Given the description of an element on the screen output the (x, y) to click on. 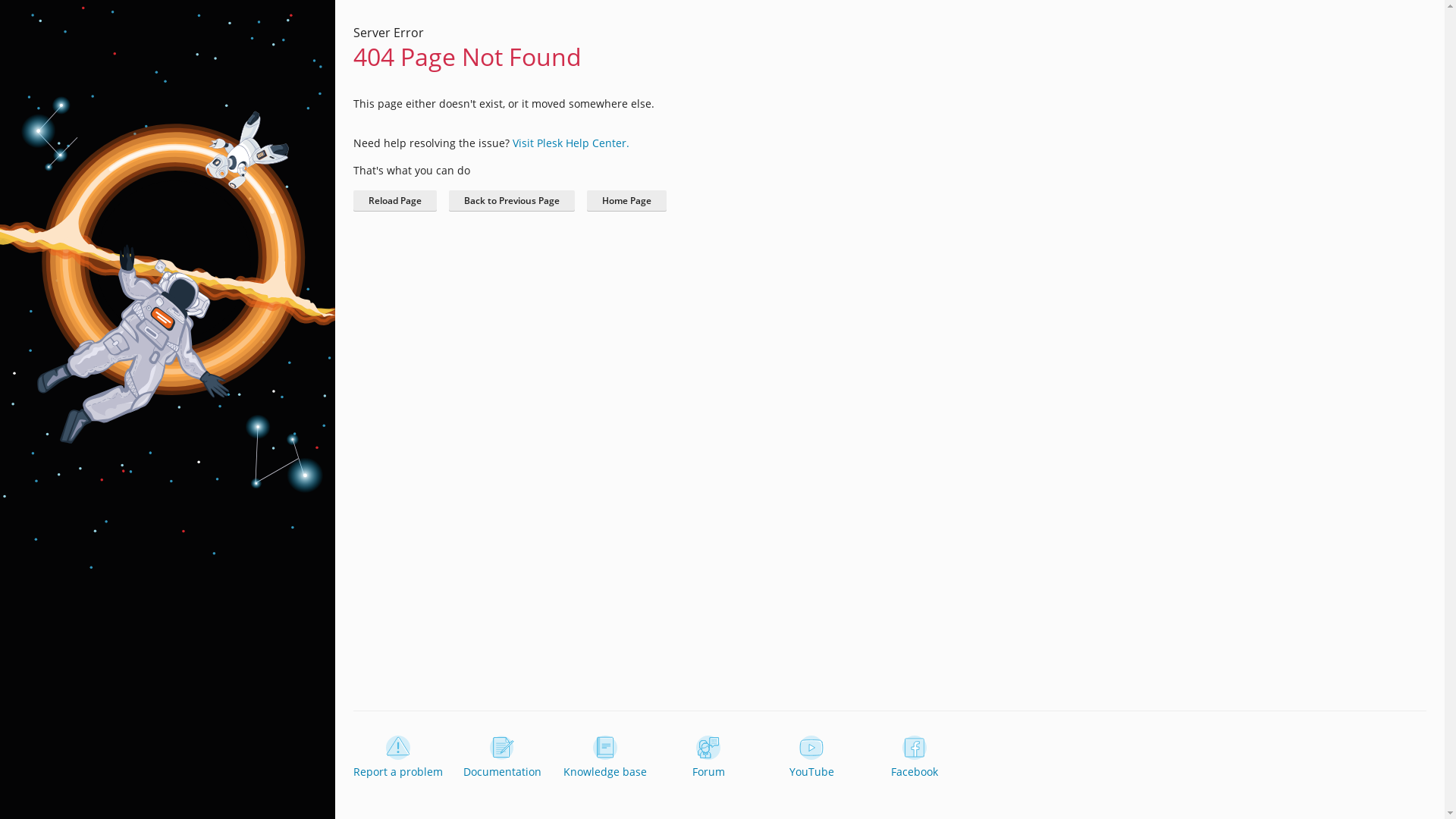
Home Page Element type: text (626, 200)
Knowledge base Element type: text (605, 757)
Documentation Element type: text (502, 757)
Forum Element type: text (708, 757)
Visit Plesk Help Center. Element type: text (570, 142)
YouTube Element type: text (811, 757)
Facebook Element type: text (914, 757)
Back to Previous Page Element type: text (511, 200)
Reload Page Element type: text (394, 200)
Report a problem Element type: text (397, 757)
